Given the description of an element on the screen output the (x, y) to click on. 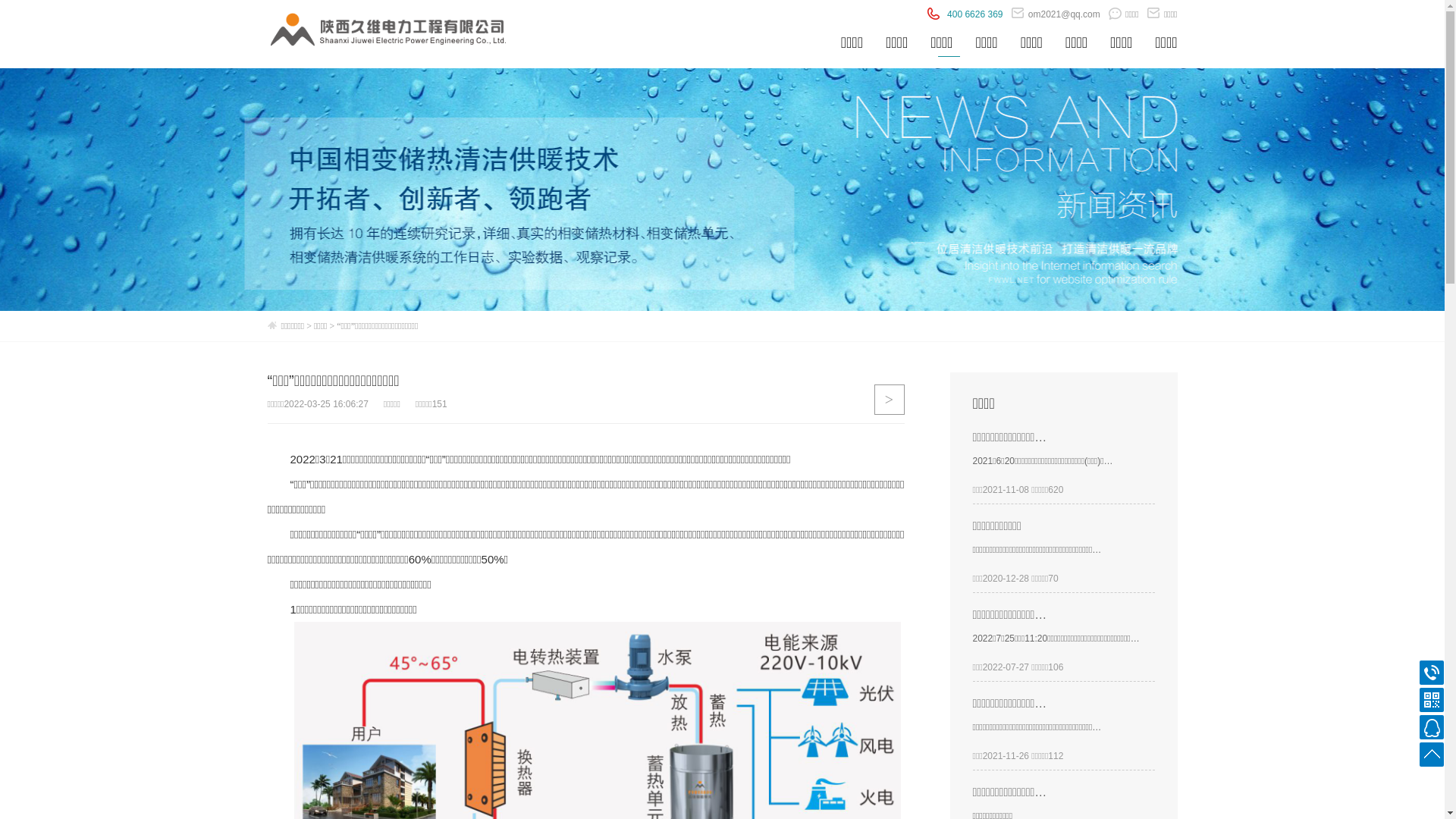
> Element type: text (888, 399)
om2021@qq.com Element type: text (1055, 14)
